Given the description of an element on the screen output the (x, y) to click on. 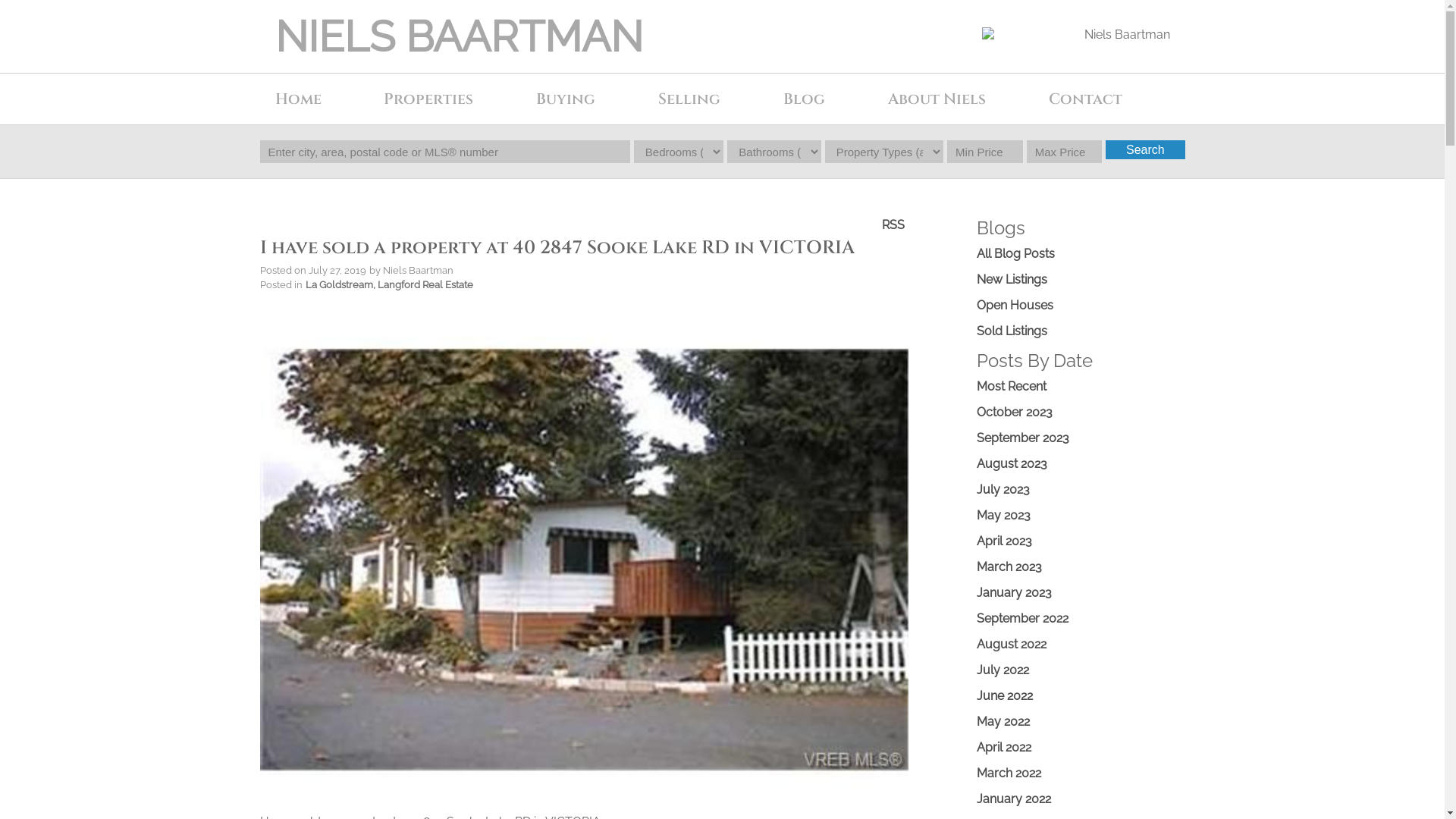
January 2023 Element type: text (1013, 592)
March 2023 Element type: text (1008, 566)
August 2023 Element type: text (1011, 463)
Search Element type: text (1144, 149)
Open Houses Element type: text (1014, 305)
January 2022 Element type: text (1013, 798)
May 2023 Element type: text (1003, 515)
March 2022 Element type: text (1008, 772)
New Listings Element type: text (1011, 279)
September 2022 Element type: text (1022, 618)
Selling Element type: text (712, 98)
October 2023 Element type: text (1014, 411)
May 2022 Element type: text (1002, 721)
Blog Element type: text (827, 98)
July 2022 Element type: text (1002, 669)
April 2022 Element type: text (1003, 747)
August 2022 Element type: text (1011, 644)
Sold Listings Element type: text (1011, 330)
April 2023 Element type: text (1004, 540)
Home Element type: text (321, 98)
June 2022 Element type: text (1004, 695)
La Goldstream, Langford Real Estate Element type: text (388, 284)
July 2023 Element type: text (1002, 489)
Most Recent Element type: text (1011, 386)
September 2023 Element type: text (1022, 437)
RSS Element type: text (893, 223)
Buying Element type: text (589, 98)
All Blog Posts Element type: text (1015, 253)
Properties Element type: text (452, 98)
About Niels Element type: text (960, 98)
Contact Element type: text (1109, 98)
